Given the description of an element on the screen output the (x, y) to click on. 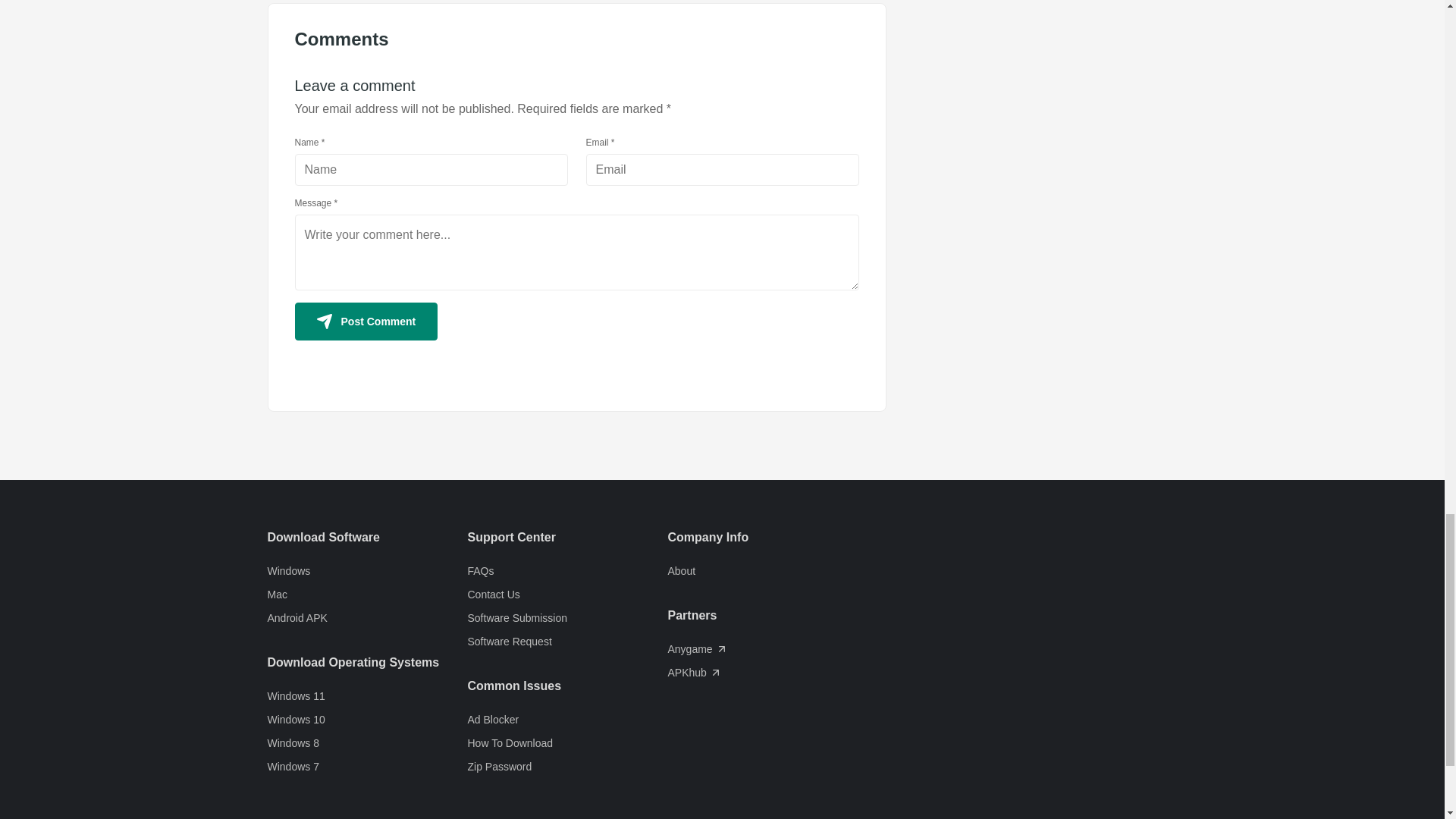
Post Comment (366, 321)
